Given the description of an element on the screen output the (x, y) to click on. 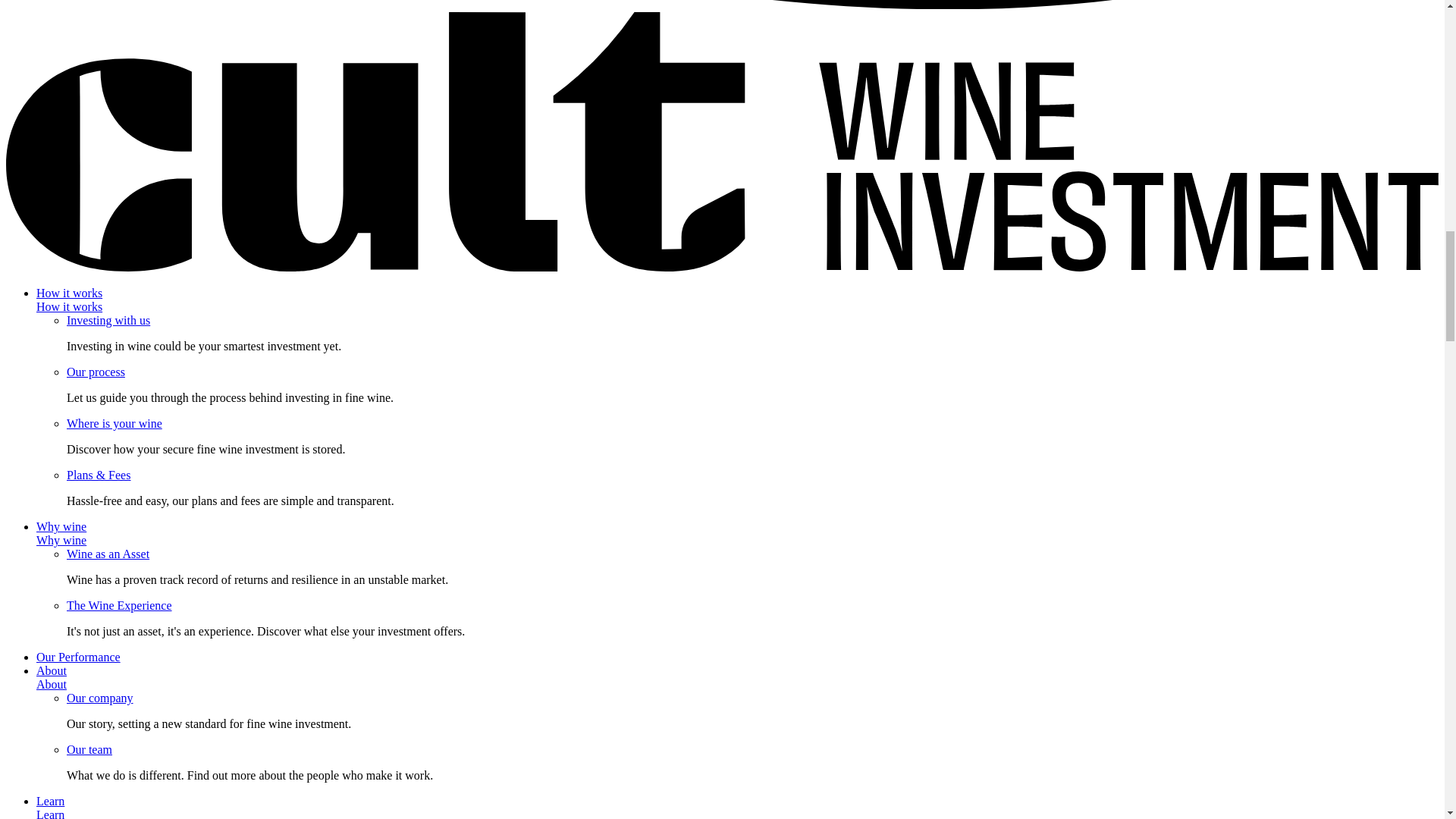
Our team (89, 748)
Investing with us (107, 319)
About (51, 684)
Wine as an Asset (107, 553)
Where is your wine (113, 422)
Our process (95, 371)
Learn (50, 813)
How it works (68, 306)
The Wine Experience (118, 604)
Why wine (60, 540)
